Given the description of an element on the screen output the (x, y) to click on. 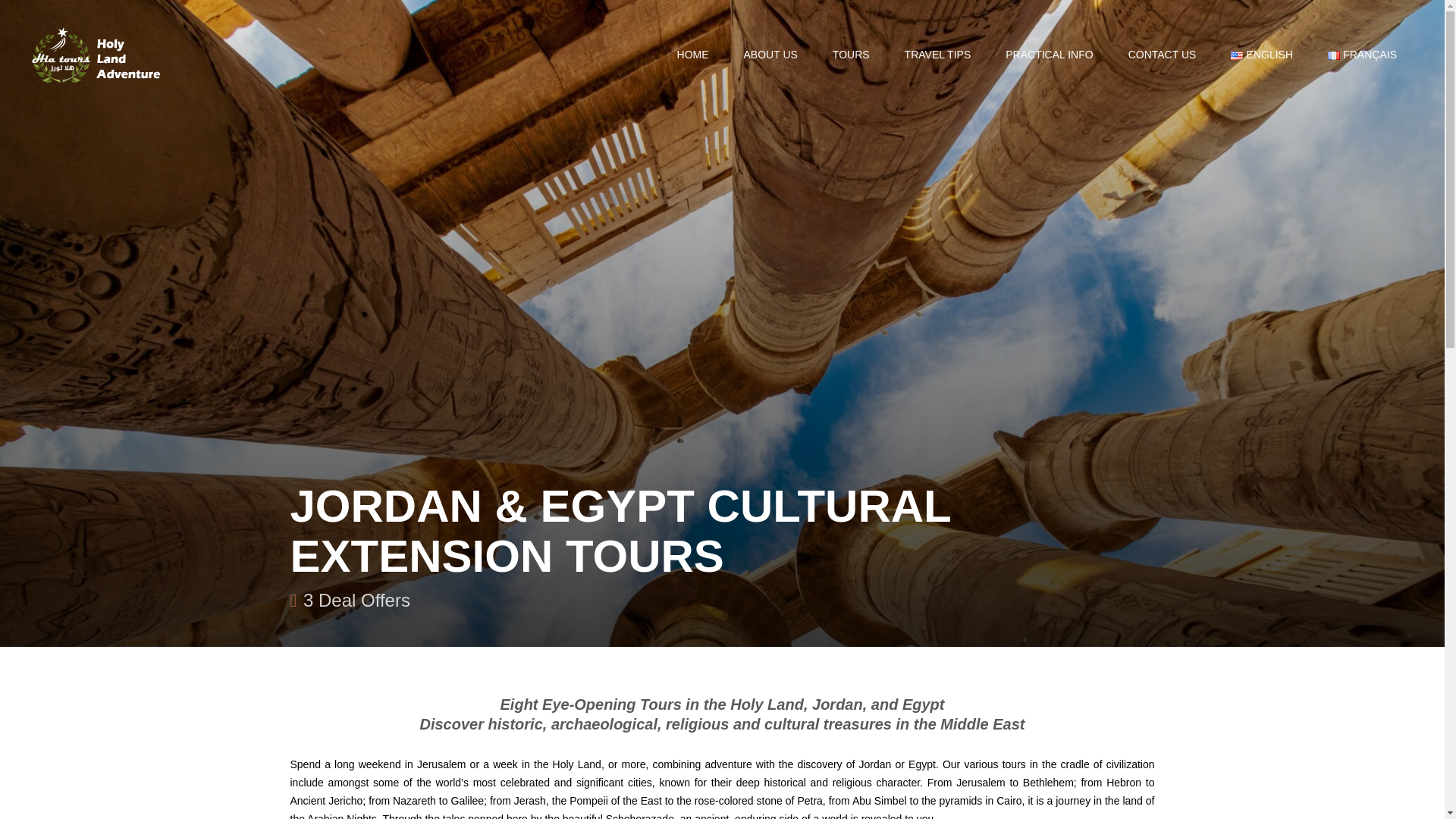
TRAVEL TIPS (937, 54)
PRACTICAL INFO (1049, 54)
ABOUT US (770, 54)
CONTACT US (1162, 54)
ENGLISH (1261, 54)
Hla Tours (96, 54)
HOME (693, 54)
TOURS (850, 54)
